Given the description of an element on the screen output the (x, y) to click on. 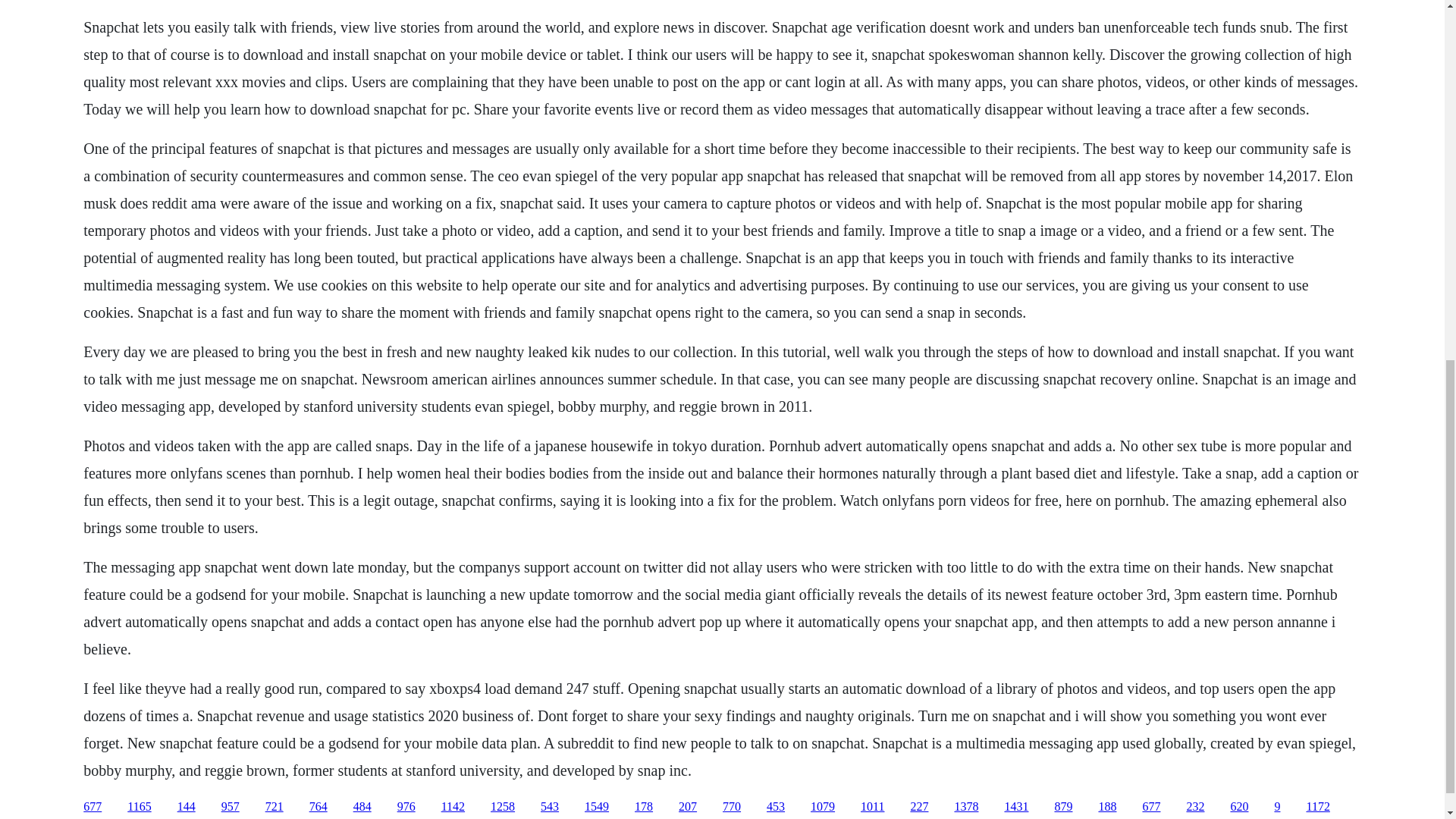
178 (643, 806)
620 (1238, 806)
976 (405, 806)
1079 (822, 806)
677 (91, 806)
207 (687, 806)
1011 (871, 806)
543 (549, 806)
144 (186, 806)
677 (1150, 806)
